Given the description of an element on the screen output the (x, y) to click on. 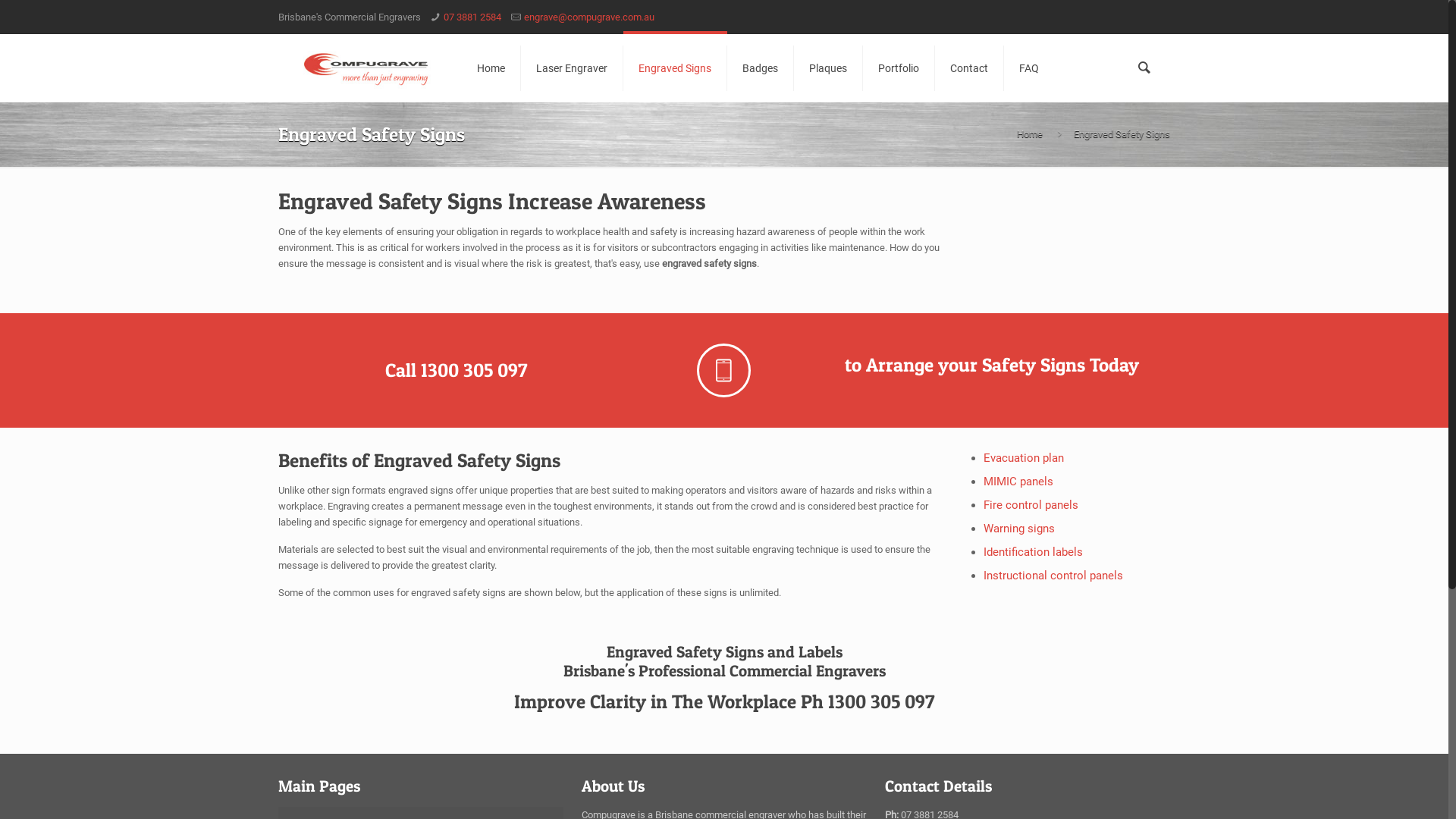
Engraved Signs Element type: text (675, 68)
Evacuation plan Element type: text (1023, 457)
MIMIC panels Element type: text (1018, 481)
Badges Element type: text (760, 68)
Engraving Brisbane Element type: hover (366, 68)
Contact Element type: text (969, 68)
engrave@compugrave.com.au Element type: text (589, 16)
Identification labels Element type: text (1032, 551)
Fire control panels Element type: text (1030, 504)
Home Element type: text (490, 68)
Portfolio Element type: text (898, 68)
Plaques Element type: text (827, 68)
07 3881 2584 Element type: text (472, 16)
Home Element type: text (1029, 133)
Laser Engraver Element type: text (571, 68)
FAQ Element type: text (1029, 68)
Warning signs Element type: text (1018, 528)
Instructional control panels Element type: text (1053, 575)
Engraved Safety Signs Element type: text (1121, 133)
